Given the description of an element on the screen output the (x, y) to click on. 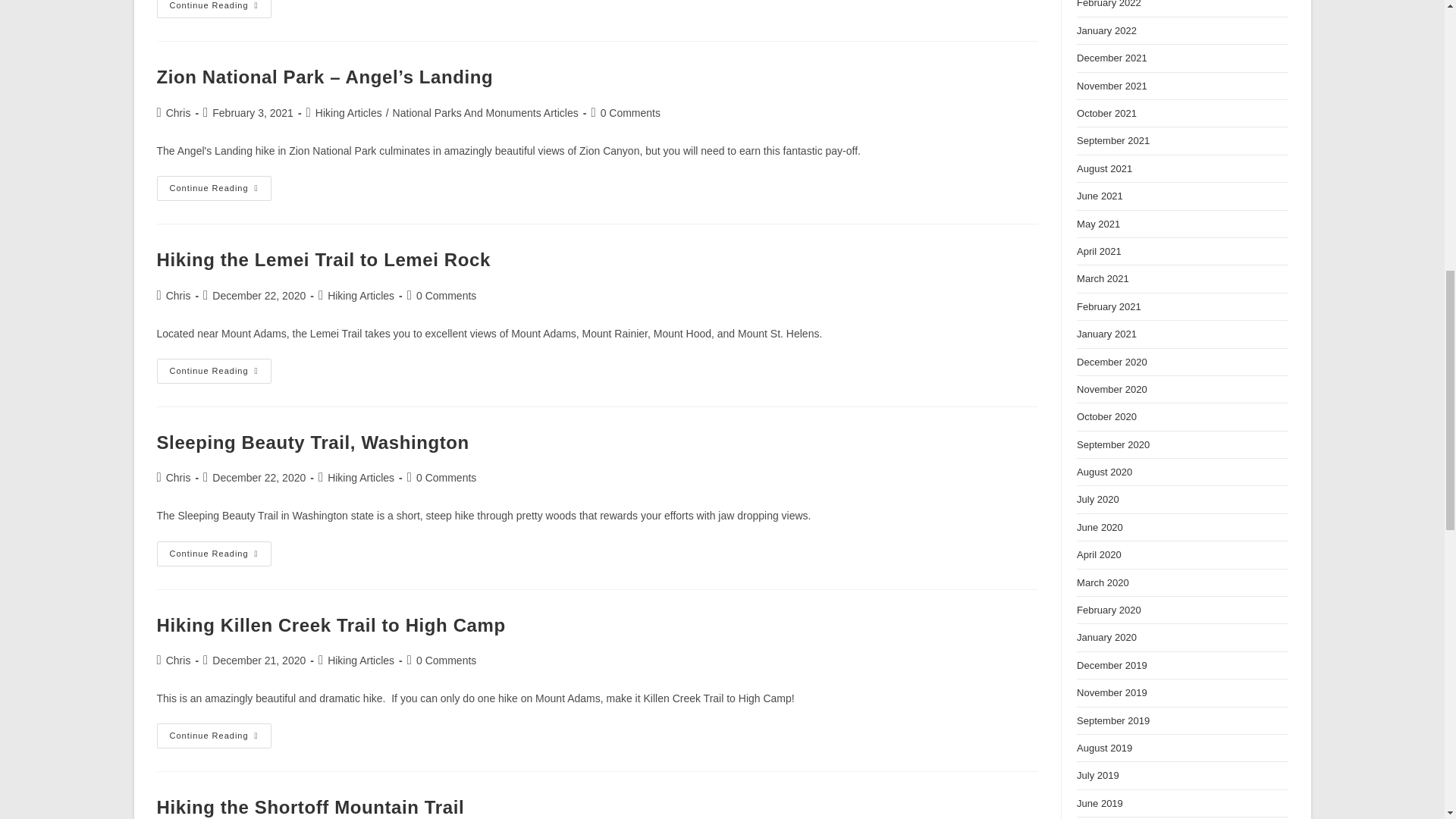
Posts by Chris (177, 477)
Posts by Chris (177, 295)
Posts by Chris (177, 112)
Posts by Chris (177, 660)
